Given the description of an element on the screen output the (x, y) to click on. 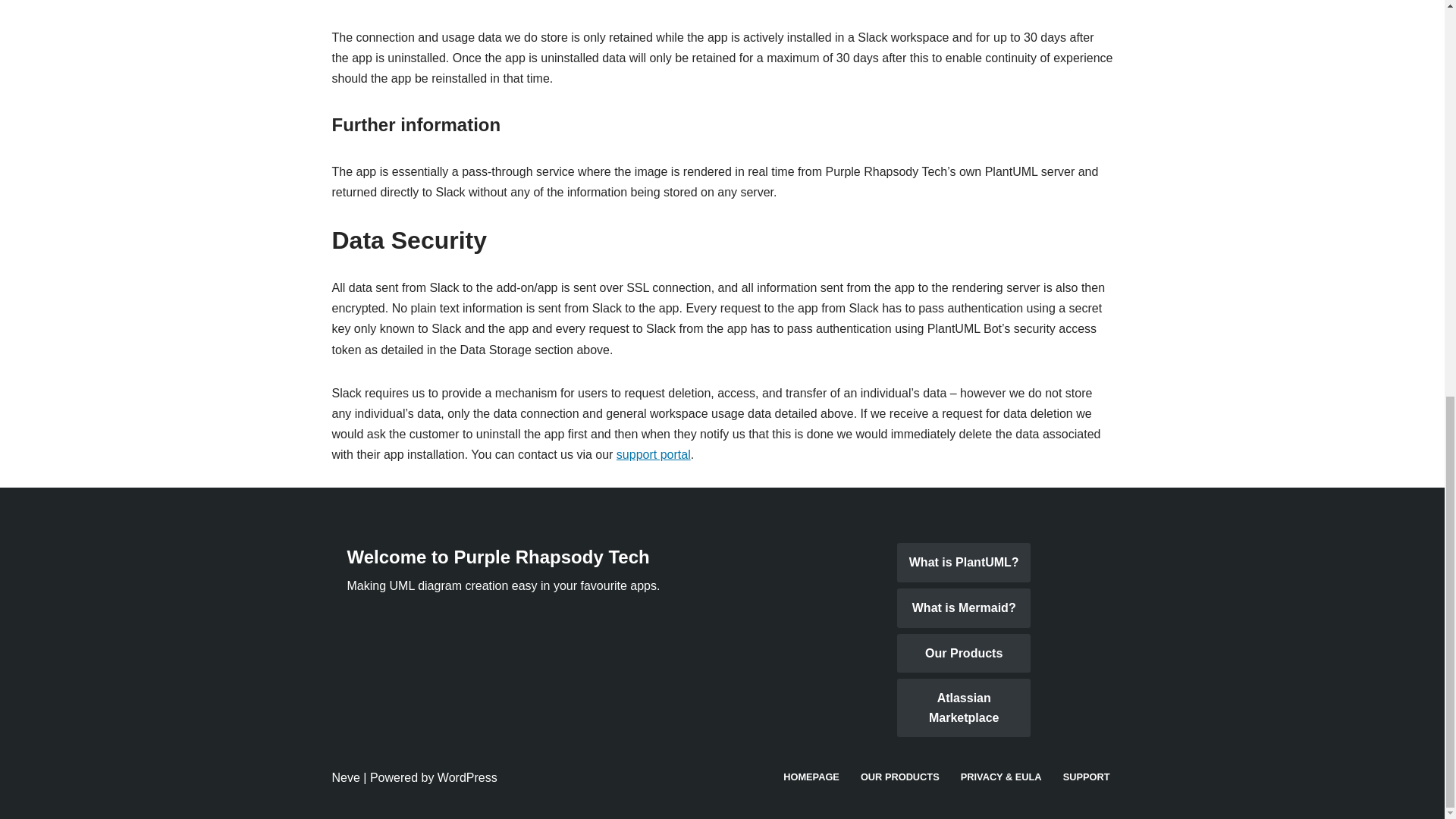
Atlassian Marketplace (963, 707)
What is PlantUML? (963, 562)
Neve (345, 777)
support portal (652, 454)
What is Mermaid? (963, 608)
Our Products (963, 653)
